Given the description of an element on the screen output the (x, y) to click on. 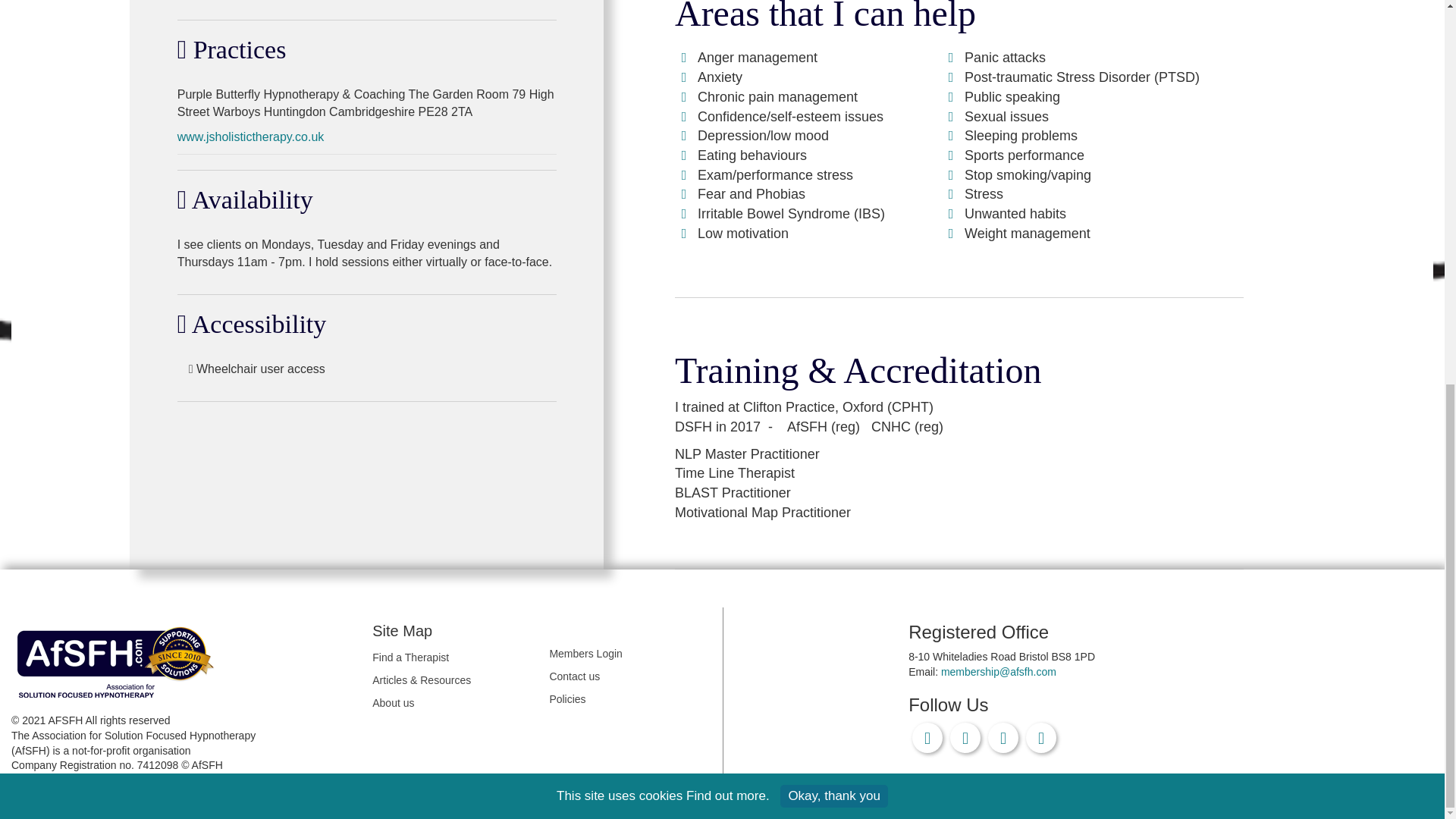
Members Login (629, 654)
Find a Therapist (453, 657)
Policies (629, 699)
About us (453, 702)
Contact us (629, 676)
AfSFH (119, 660)
www.jsholistictherapy.co.uk (250, 136)
